Given the description of an element on the screen output the (x, y) to click on. 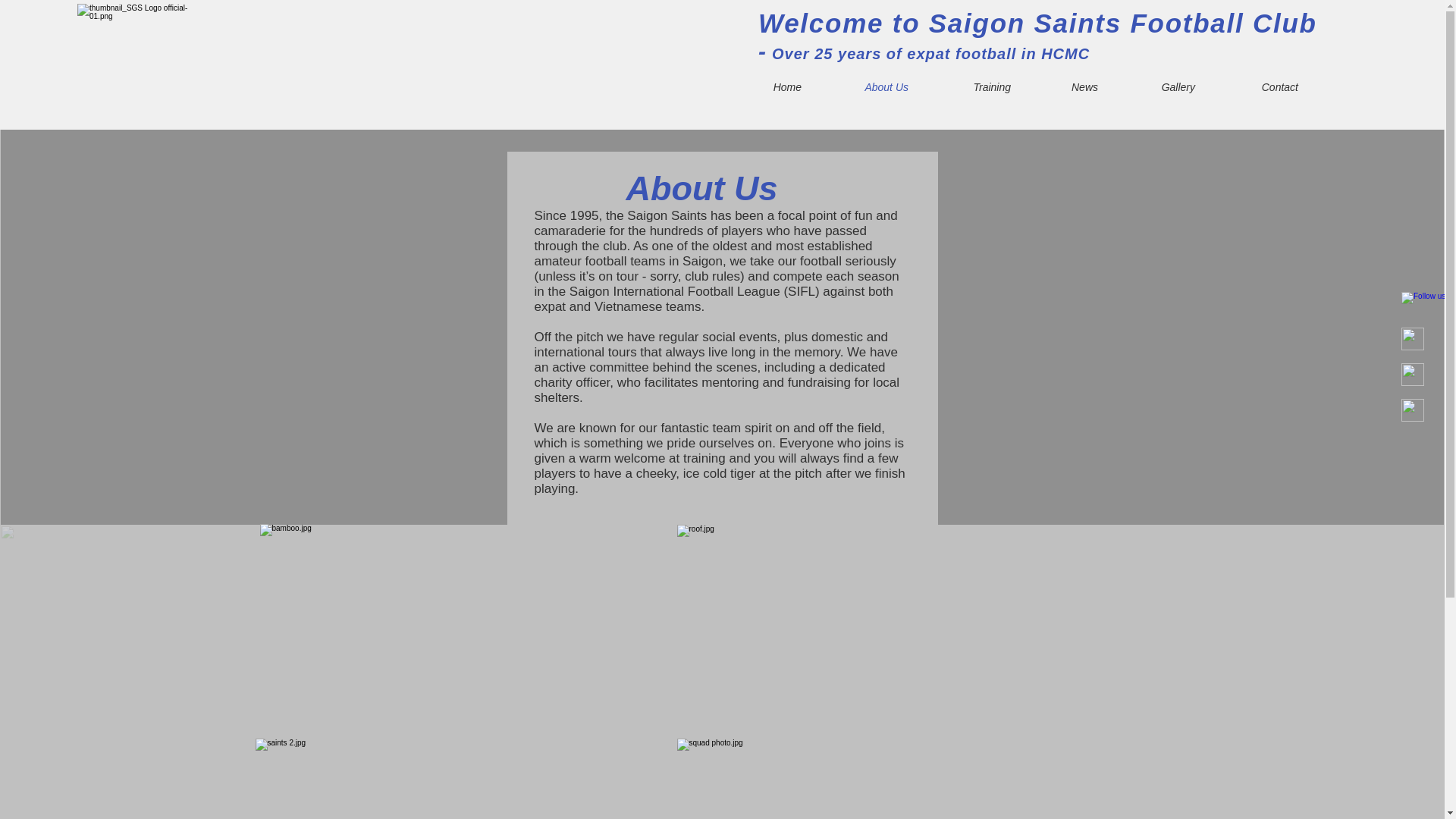
Home (766, 86)
Training (971, 86)
Contact (1257, 86)
About Us (866, 86)
Gallery (1158, 86)
News (1065, 86)
